Given the description of an element on the screen output the (x, y) to click on. 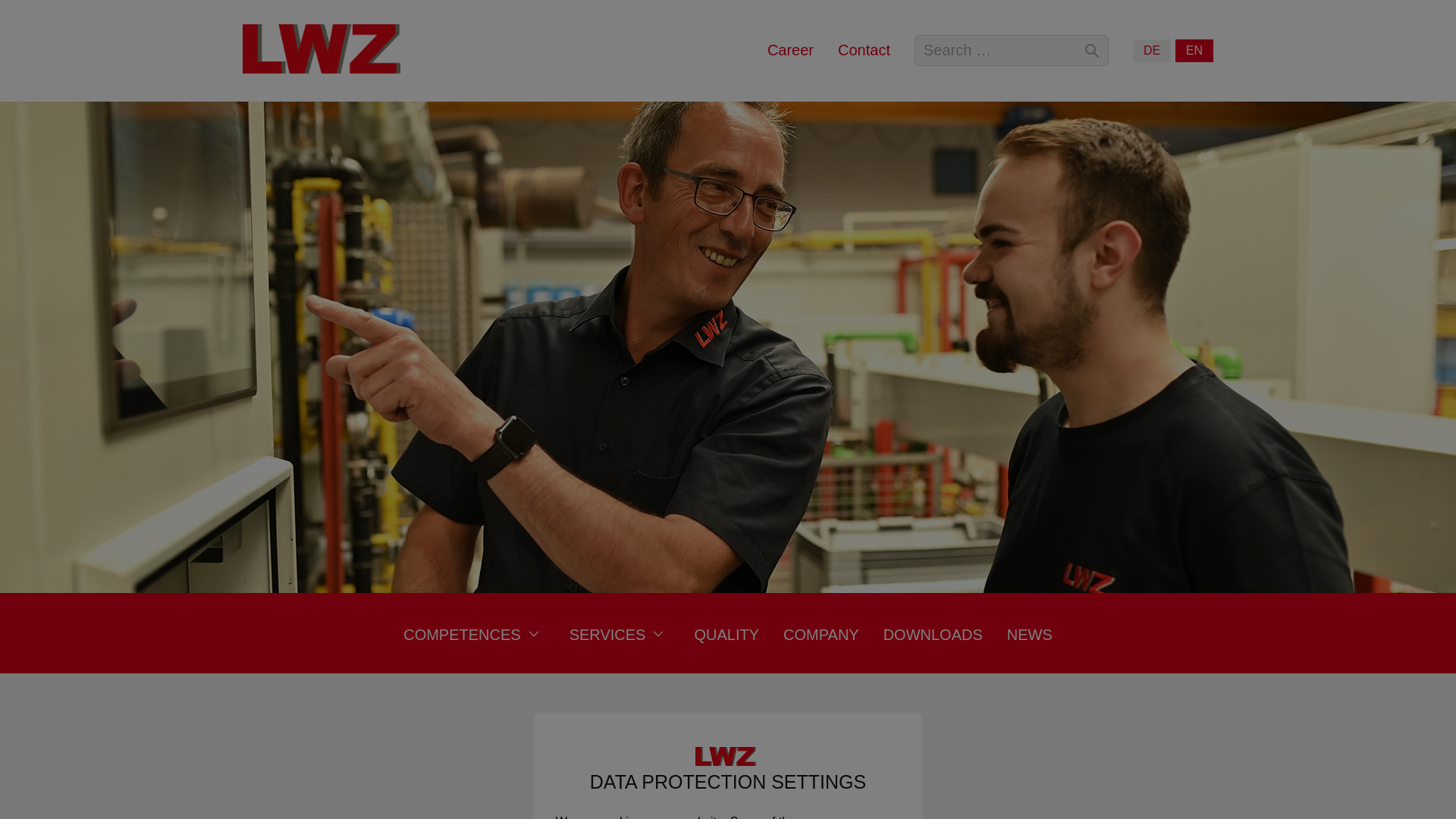
DE (1151, 50)
Career (790, 49)
Contact (863, 49)
EN (1193, 50)
